Given the description of an element on the screen output the (x, y) to click on. 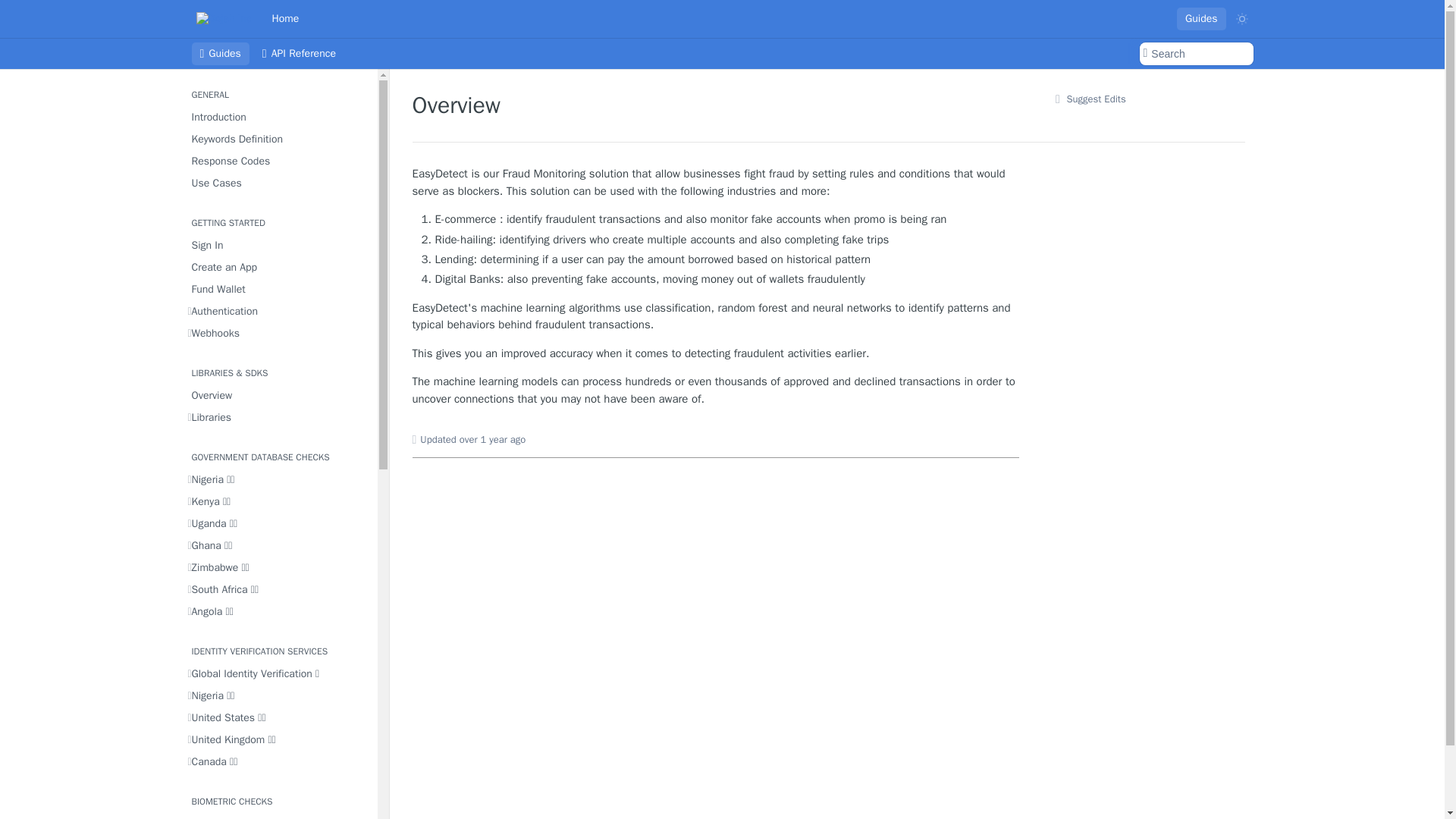
Authentication (277, 311)
API Reference (298, 53)
Guides (219, 53)
Webhooks (277, 332)
Guides (1200, 18)
Keywords Definition (277, 138)
Use Cases (277, 182)
Fund Wallet (277, 289)
Create an App (277, 267)
Home (285, 18)
Overview (277, 394)
Search (1195, 53)
Introduction (277, 117)
Response Codes (277, 160)
Sign In (277, 245)
